Given the description of an element on the screen output the (x, y) to click on. 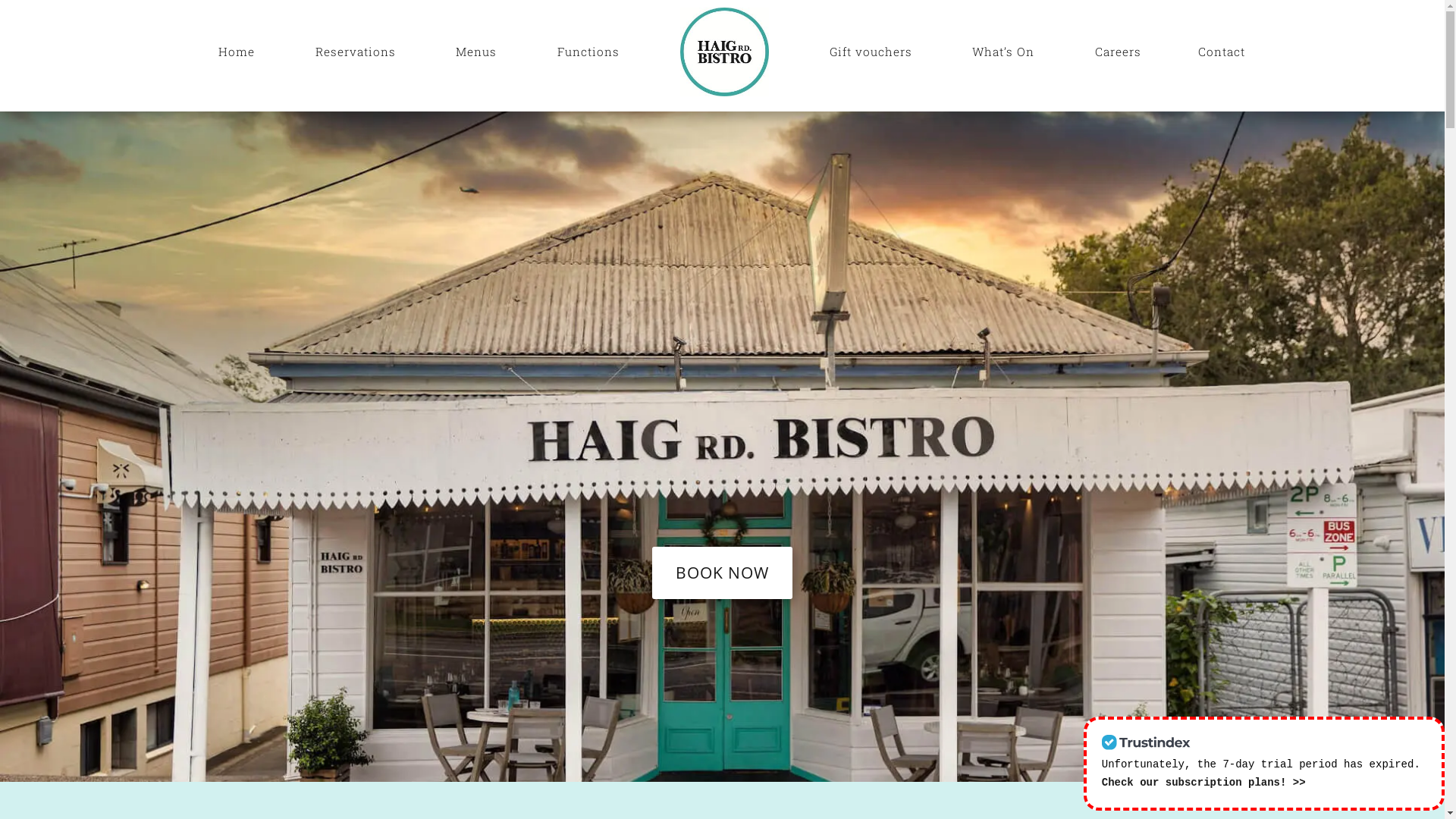
Menus Element type: text (476, 51)
Home Element type: text (236, 51)
Careers Element type: text (1118, 51)
Contact Element type: text (1213, 51)
Reservations Element type: text (355, 51)
Check our subscription plans! >> Element type: text (1203, 782)
Functions Element type: text (588, 51)
Gift vouchers Element type: text (870, 51)
BOOK NOW Element type: text (722, 572)
